Given the description of an element on the screen output the (x, y) to click on. 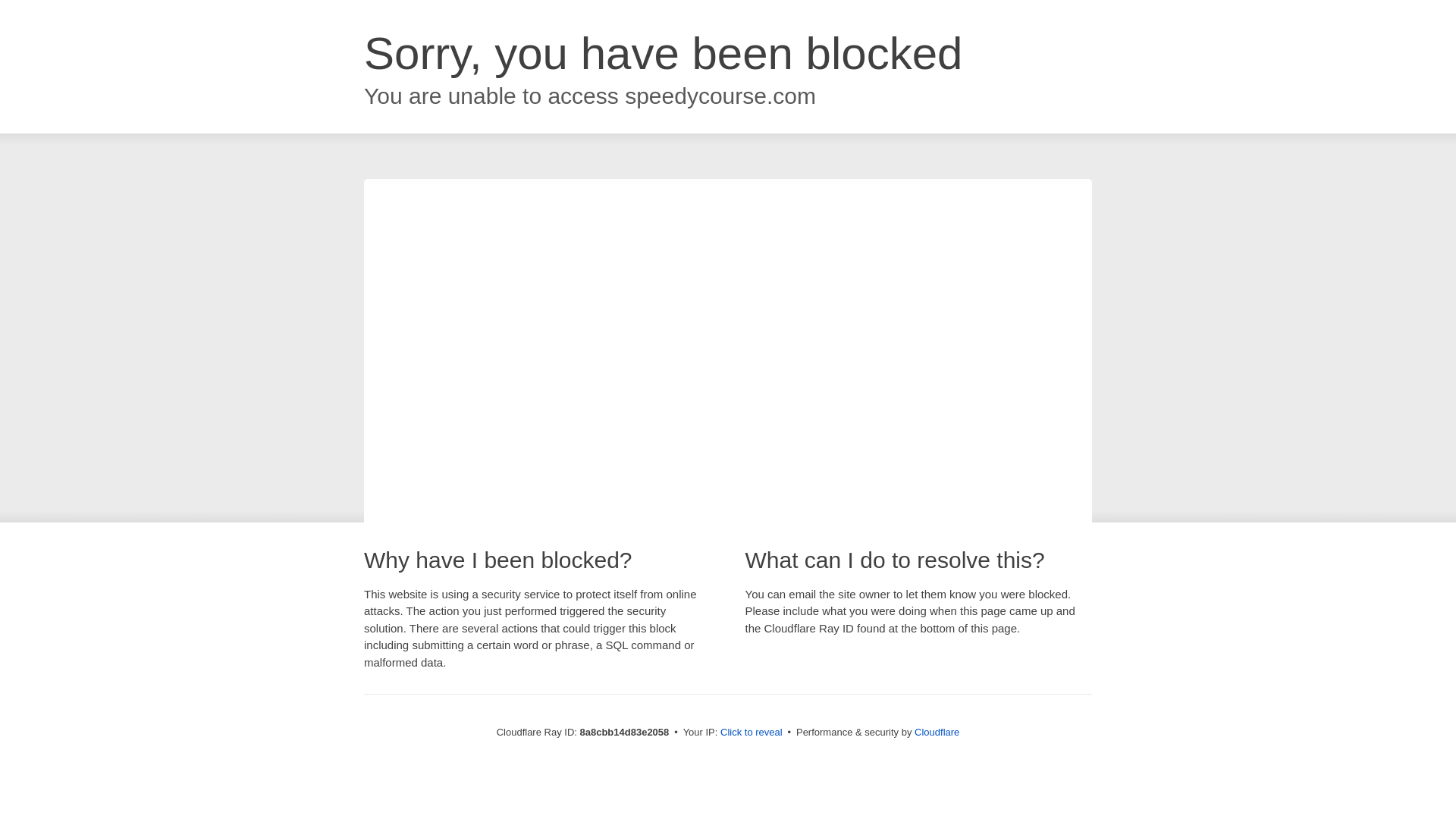
Cloudflare (936, 731)
Click to reveal (751, 732)
